Given the description of an element on the screen output the (x, y) to click on. 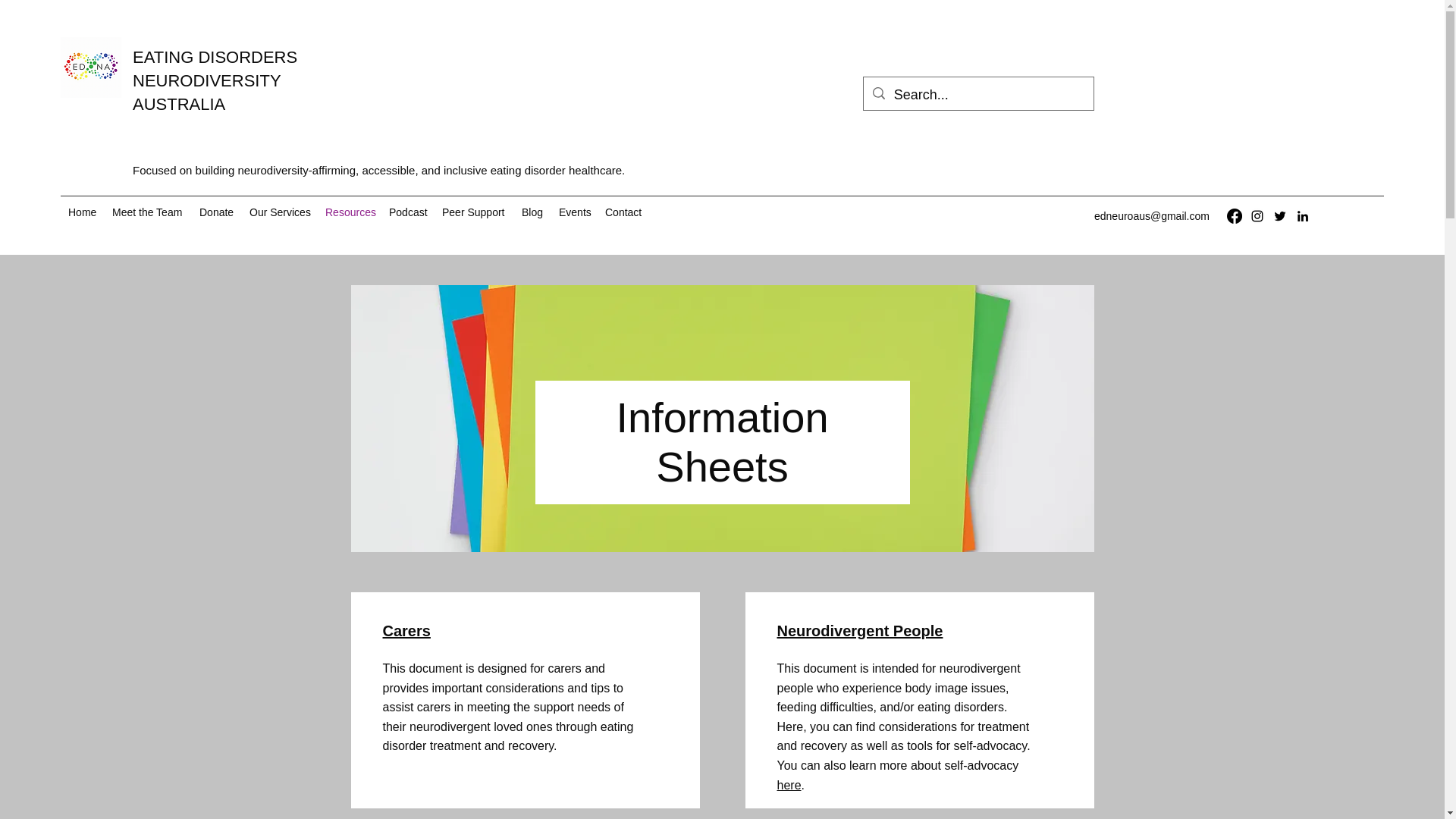
Donate (216, 211)
Contact (623, 211)
Our Services (279, 211)
Events (573, 211)
Neurodivergent People (859, 630)
Resources (349, 211)
Podcast (214, 80)
Peer Support (407, 211)
Meet the Team (473, 211)
